Given the description of an element on the screen output the (x, y) to click on. 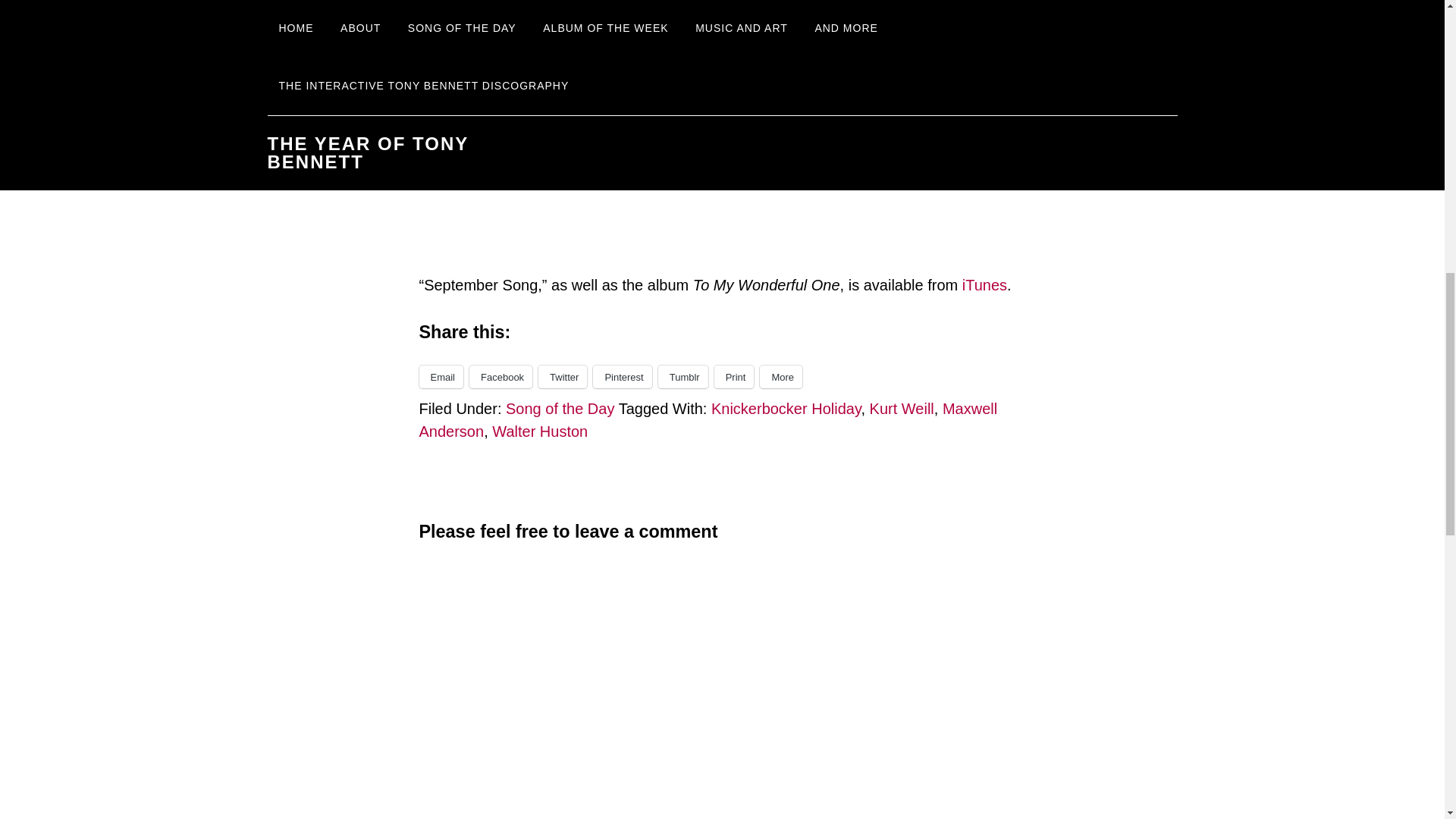
Pinterest (621, 376)
Twitter (562, 376)
Click to print (734, 376)
Click to share on Tumblr (682, 376)
Click to share on Pinterest (621, 376)
September Song (508, 47)
iTunes (984, 284)
Facebook (500, 376)
Click to email a link to a friend (441, 376)
Click to share on Twitter (562, 376)
Email (441, 376)
Click to share on Facebook (500, 376)
Tumblr (682, 376)
